Given the description of an element on the screen output the (x, y) to click on. 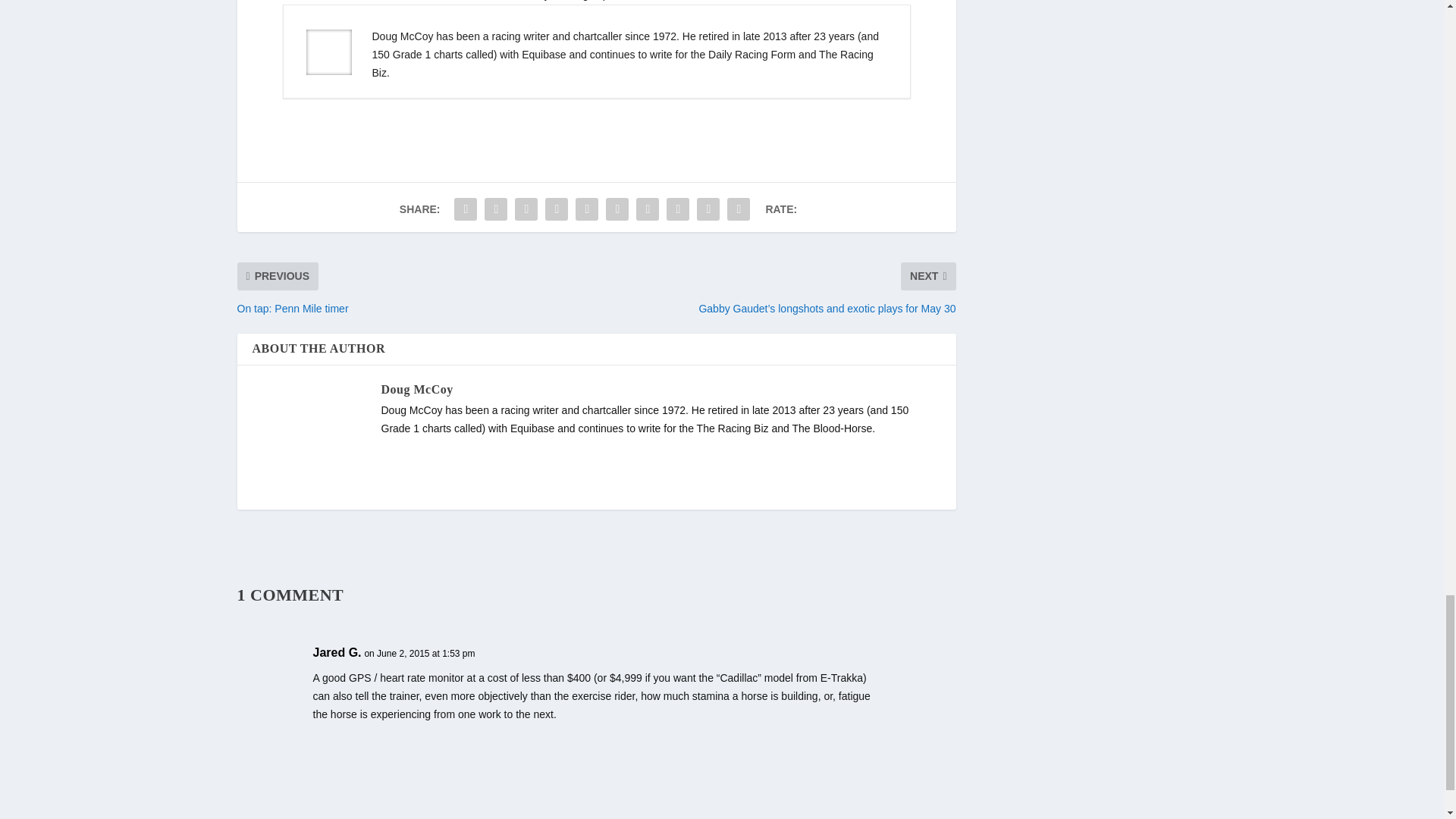
Share "Turning babies into runners" via Tumblr (556, 209)
Share "Turning babies into runners" via Stumbleupon (677, 209)
Doug McCoy (416, 389)
Share "Turning babies into runners" via Twitter (495, 209)
Share "Turning babies into runners" via LinkedIn (616, 209)
Share "Turning babies into runners" via Print (738, 209)
Jared G. (337, 652)
Share "Turning babies into runners" via Buffer (646, 209)
Share "Turning babies into runners" via Pinterest (587, 209)
Share "Turning babies into runners" via Email (708, 209)
